Given the description of an element on the screen output the (x, y) to click on. 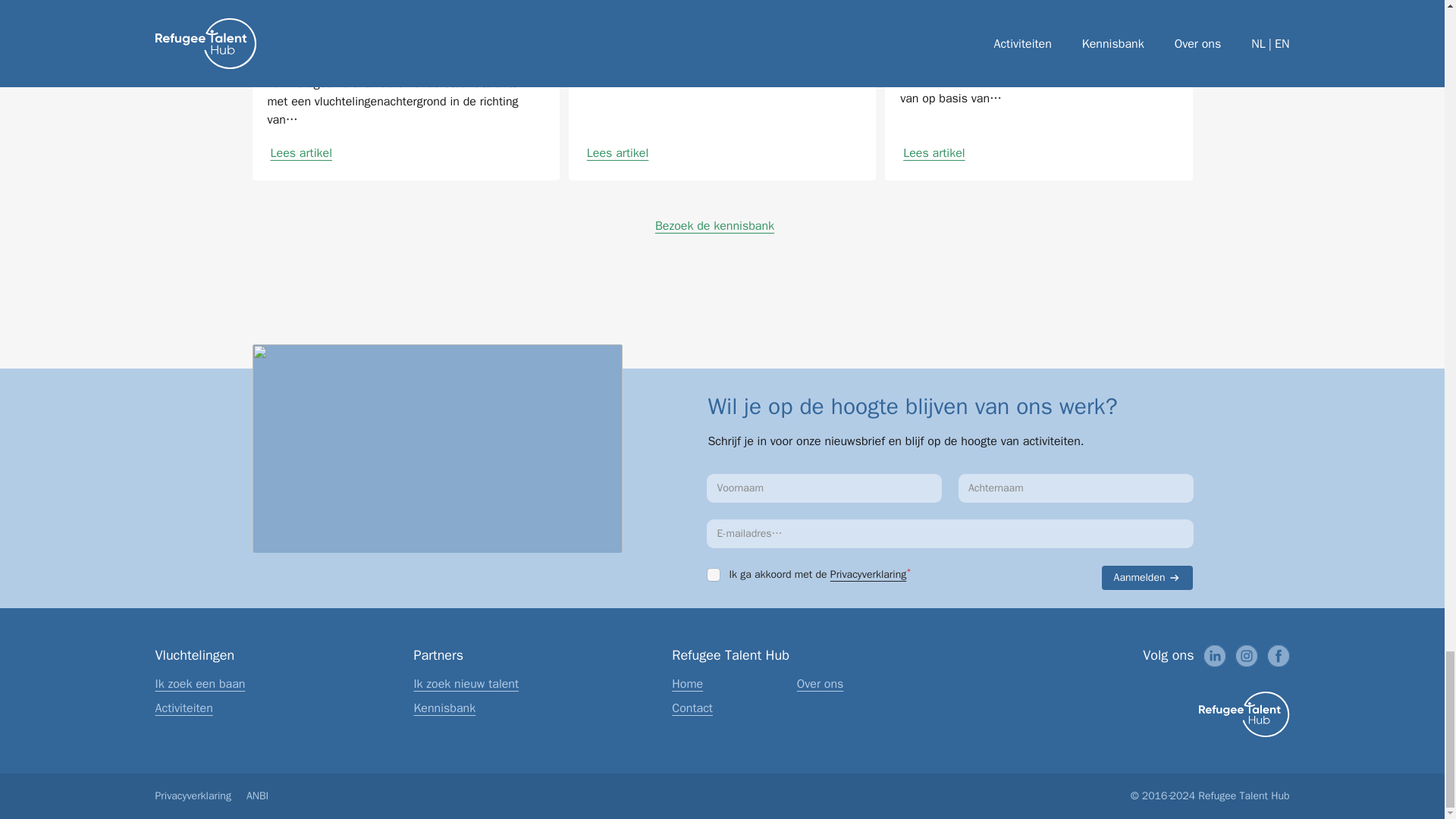
on (713, 574)
